Given the description of an element on the screen output the (x, y) to click on. 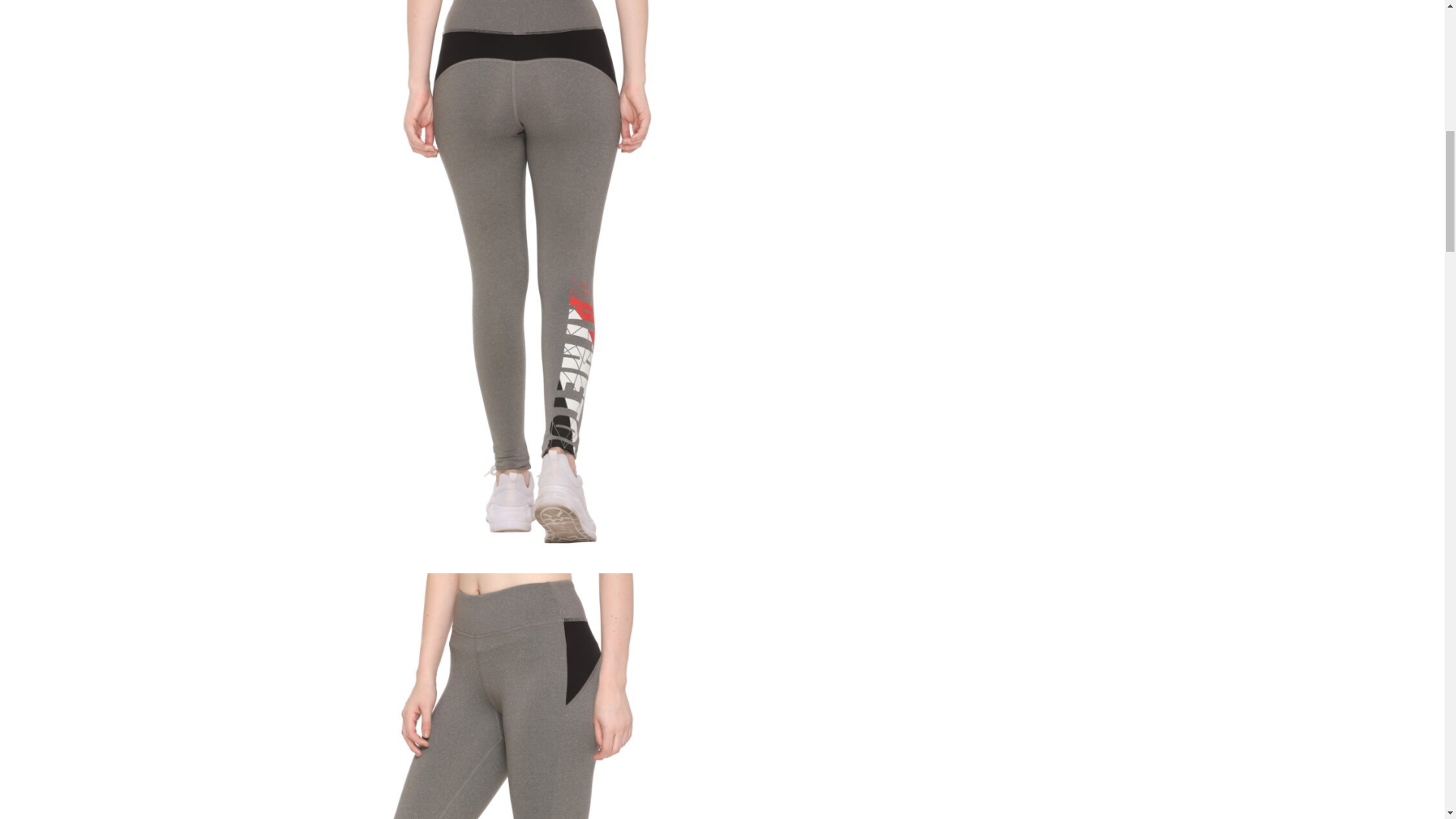
0V1A0325 (517, 696)
